Given the description of an element on the screen output the (x, y) to click on. 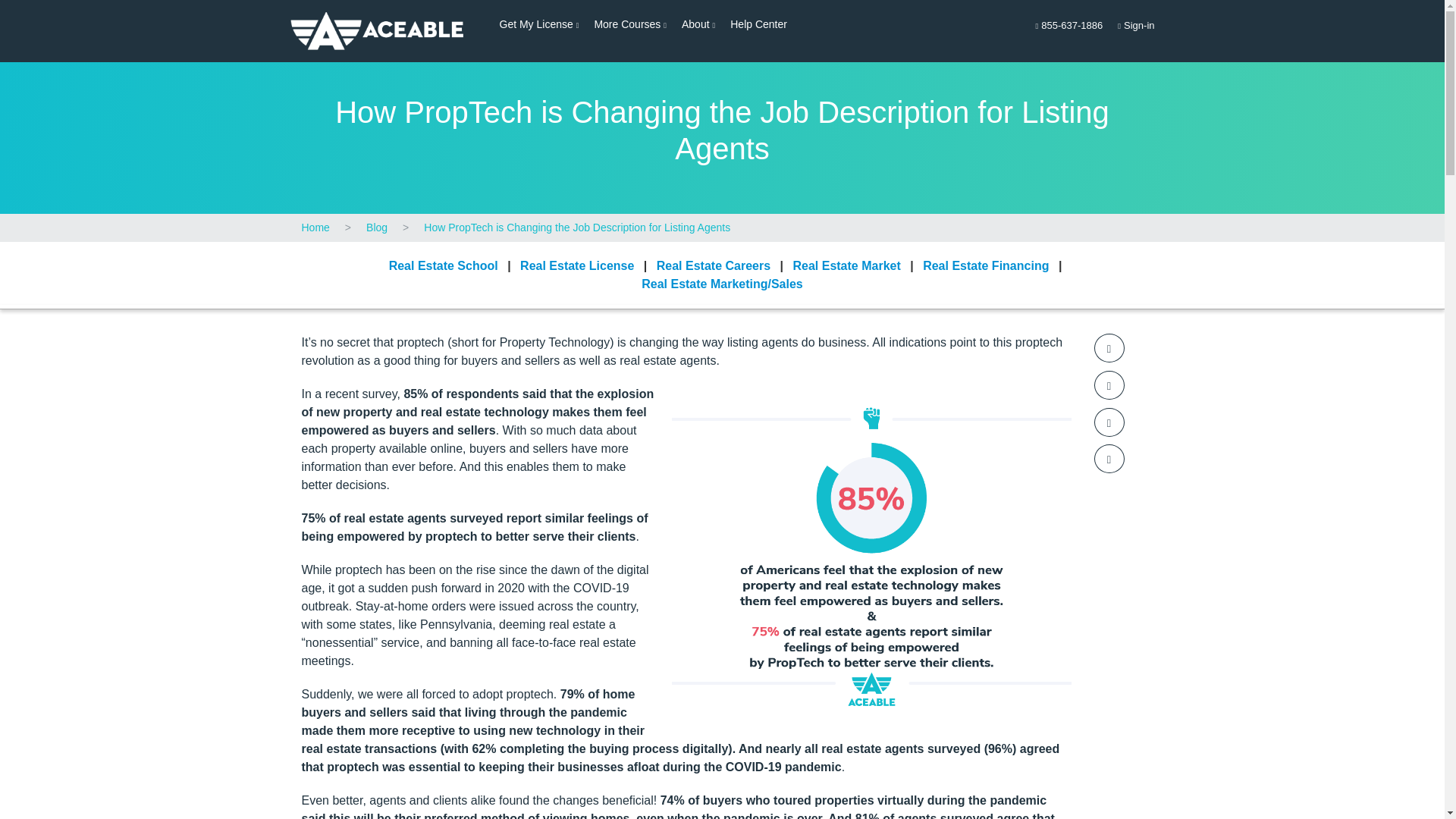
Blog (376, 227)
linkedin (1108, 421)
Real Estate Careers (713, 265)
twitter (1108, 385)
Help Center (758, 24)
Real Estate School (442, 265)
Get My License (1136, 25)
Home (538, 24)
